Given the description of an element on the screen output the (x, y) to click on. 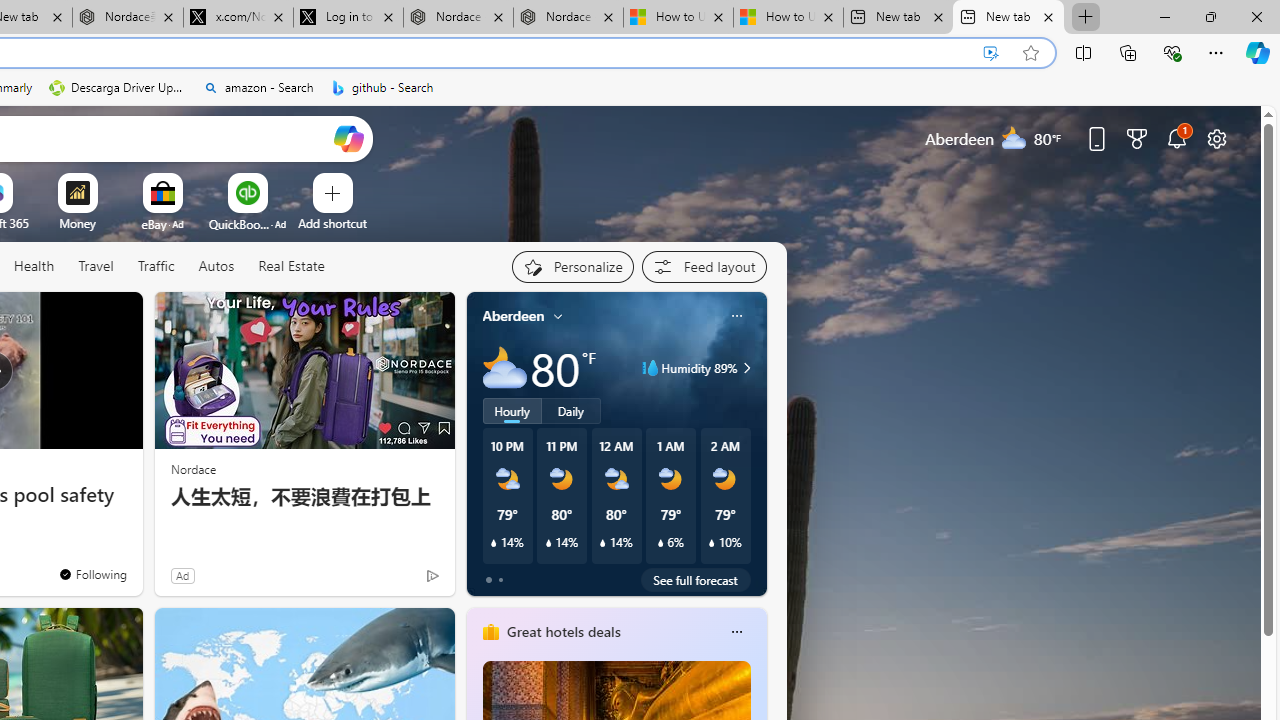
tab-0 (488, 579)
Microsoft rewards (1137, 138)
Great hotels deals (562, 631)
Real Estate (290, 267)
Descarga Driver Updater (118, 88)
Enhance video (991, 53)
Real Estate (291, 265)
